Given the description of an element on the screen output the (x, y) to click on. 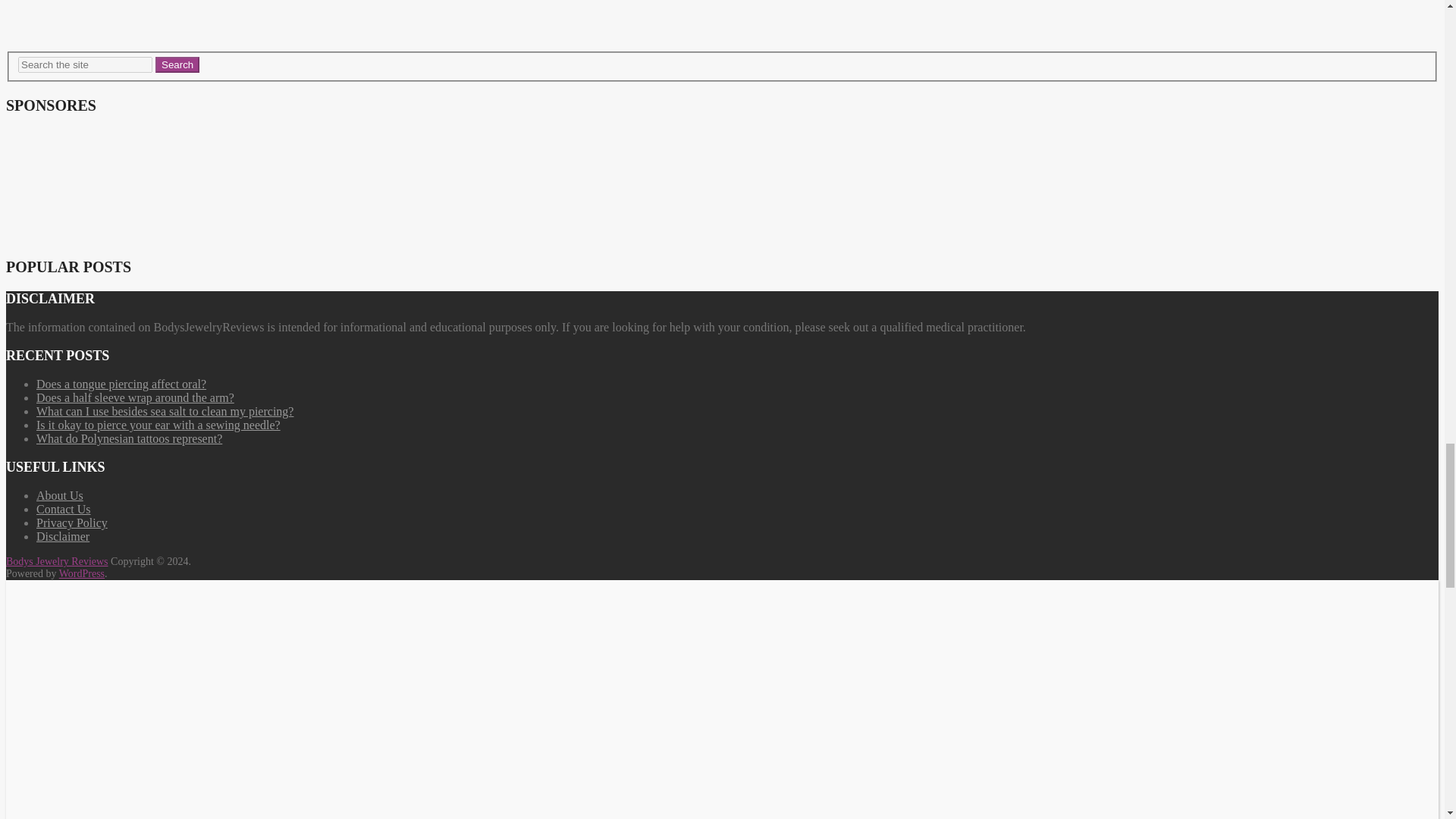
Is it okay to pierce your ear with a sewing needle? (158, 424)
What do Polynesian tattoos represent? (129, 438)
Privacy Policy (71, 522)
Search (177, 64)
Disclaimer (62, 535)
About Us (59, 495)
Does a tongue piercing affect oral? (121, 383)
What can I use besides sea salt to clean my piercing? (165, 410)
Does a half sleeve wrap around the arm? (135, 397)
Contact Us (63, 508)
